Given the description of an element on the screen output the (x, y) to click on. 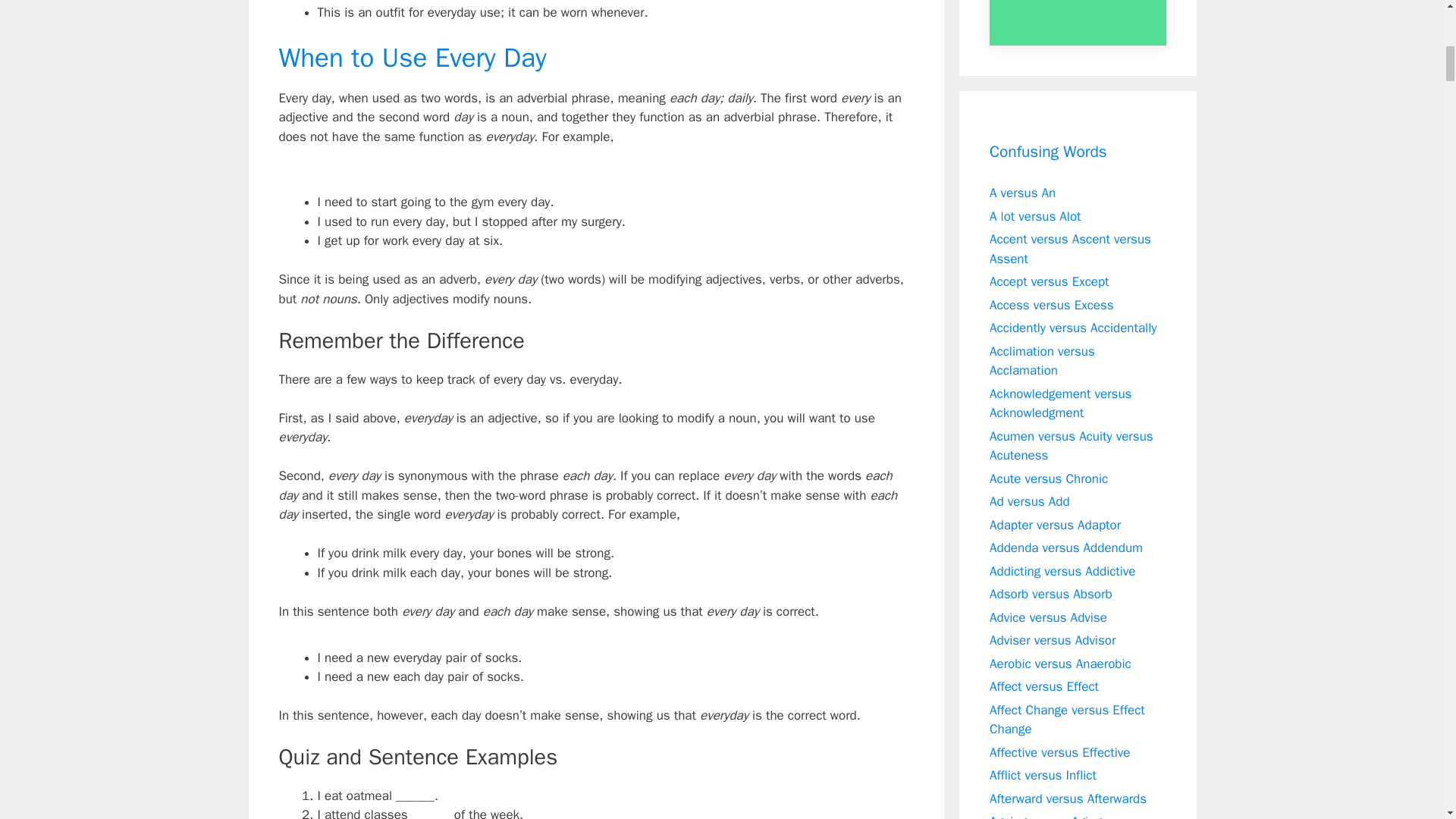
Confusing Words (1048, 152)
A versus An (1022, 192)
A lot versus Alot (1035, 215)
Accent versus Ascent versus Assent (1070, 248)
